Given the description of an element on the screen output the (x, y) to click on. 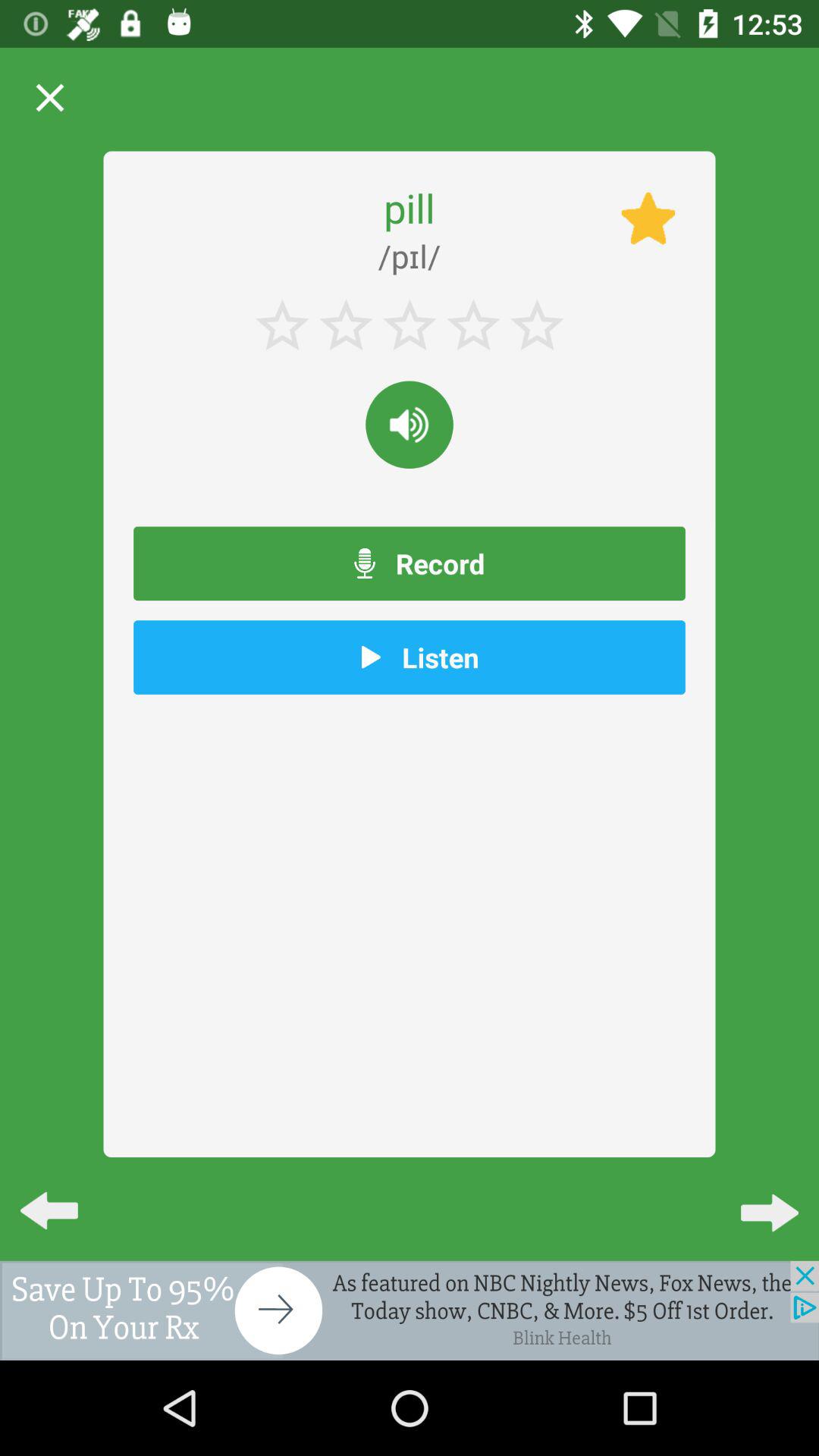
to adjust the volume (409, 424)
